Given the description of an element on the screen output the (x, y) to click on. 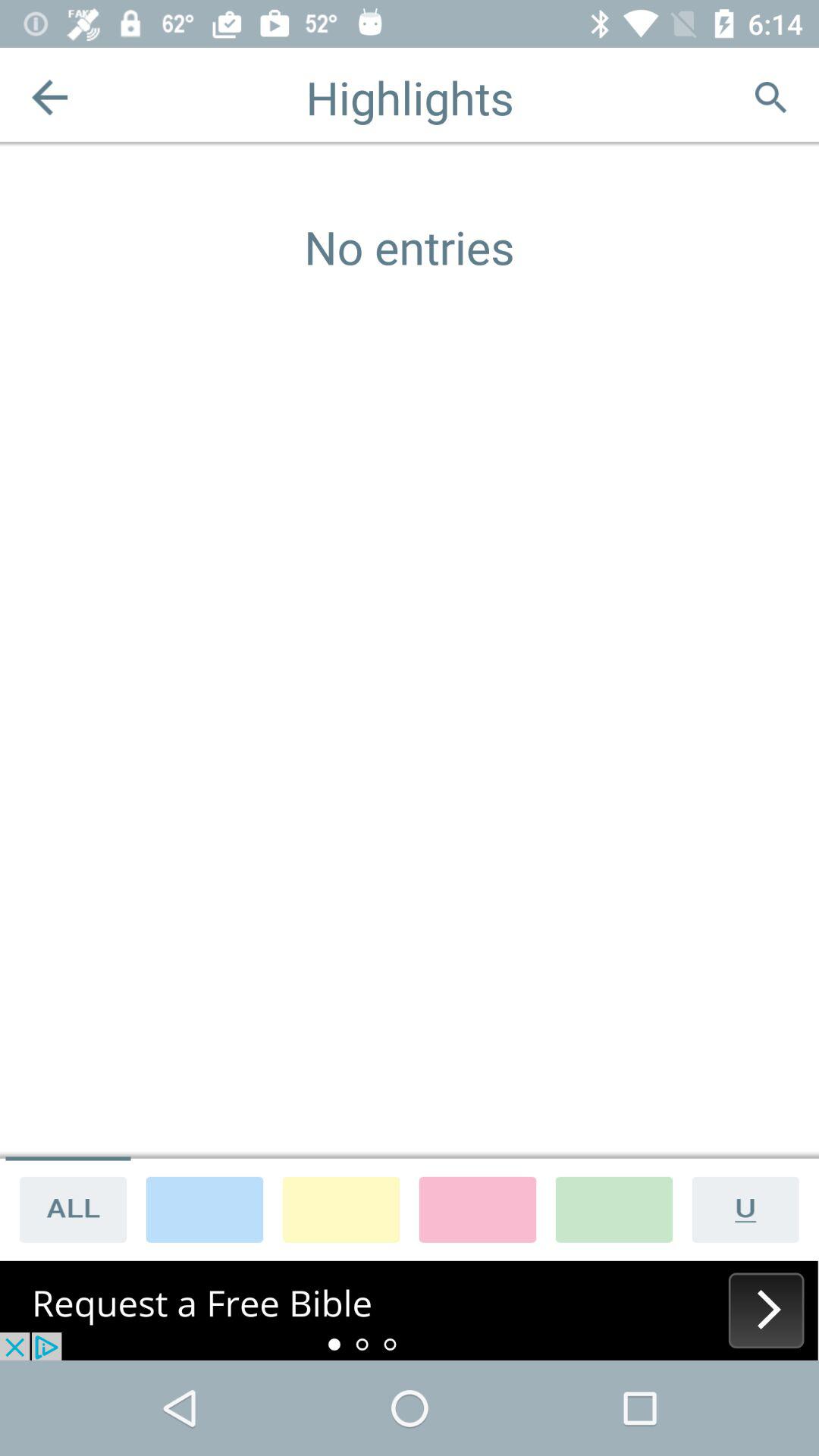
share the article (68, 1208)
